Given the description of an element on the screen output the (x, y) to click on. 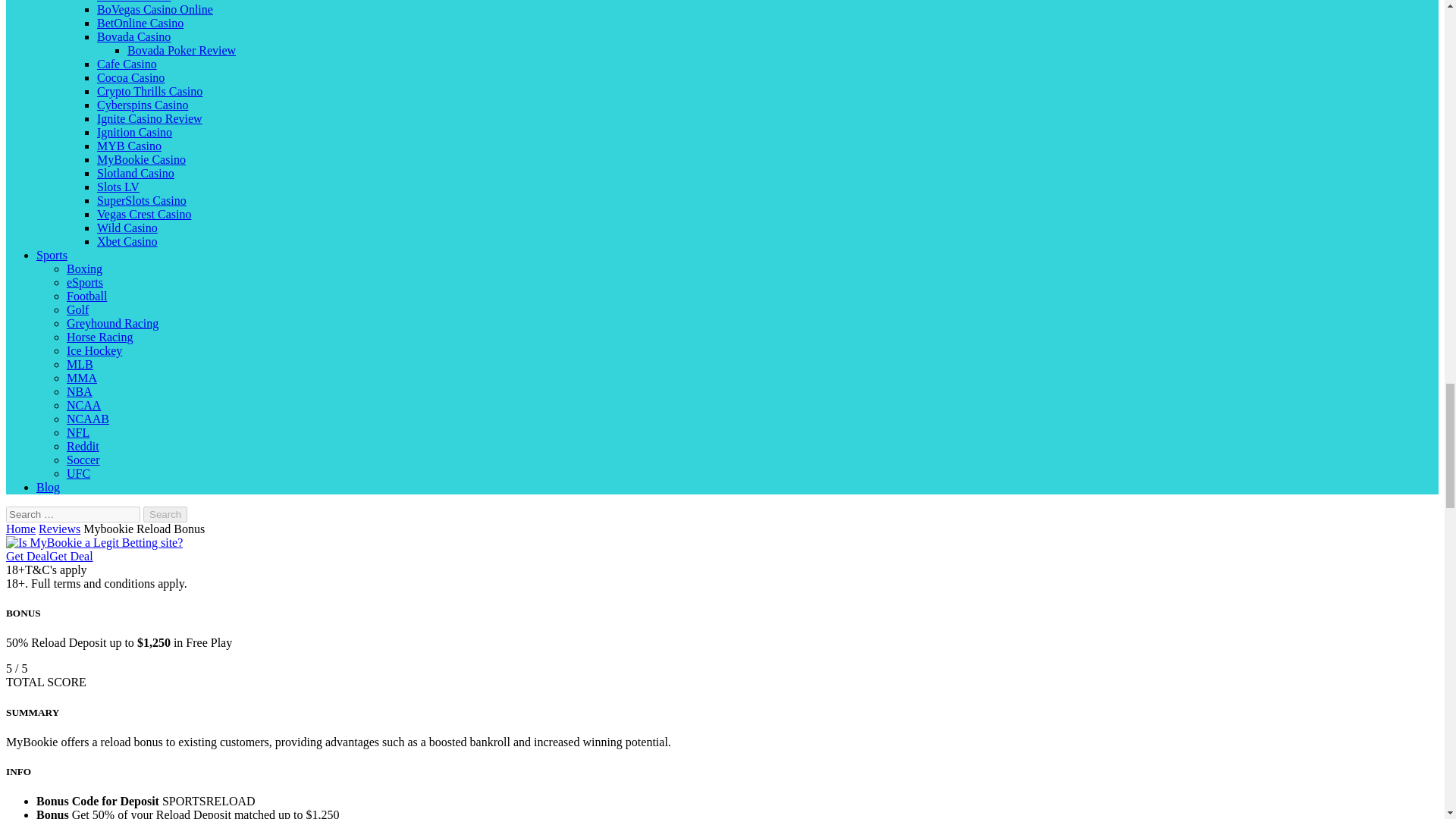
Mybookie Reload Bonus (143, 528)
Reviews (59, 528)
Home (19, 528)
